Given the description of an element on the screen output the (x, y) to click on. 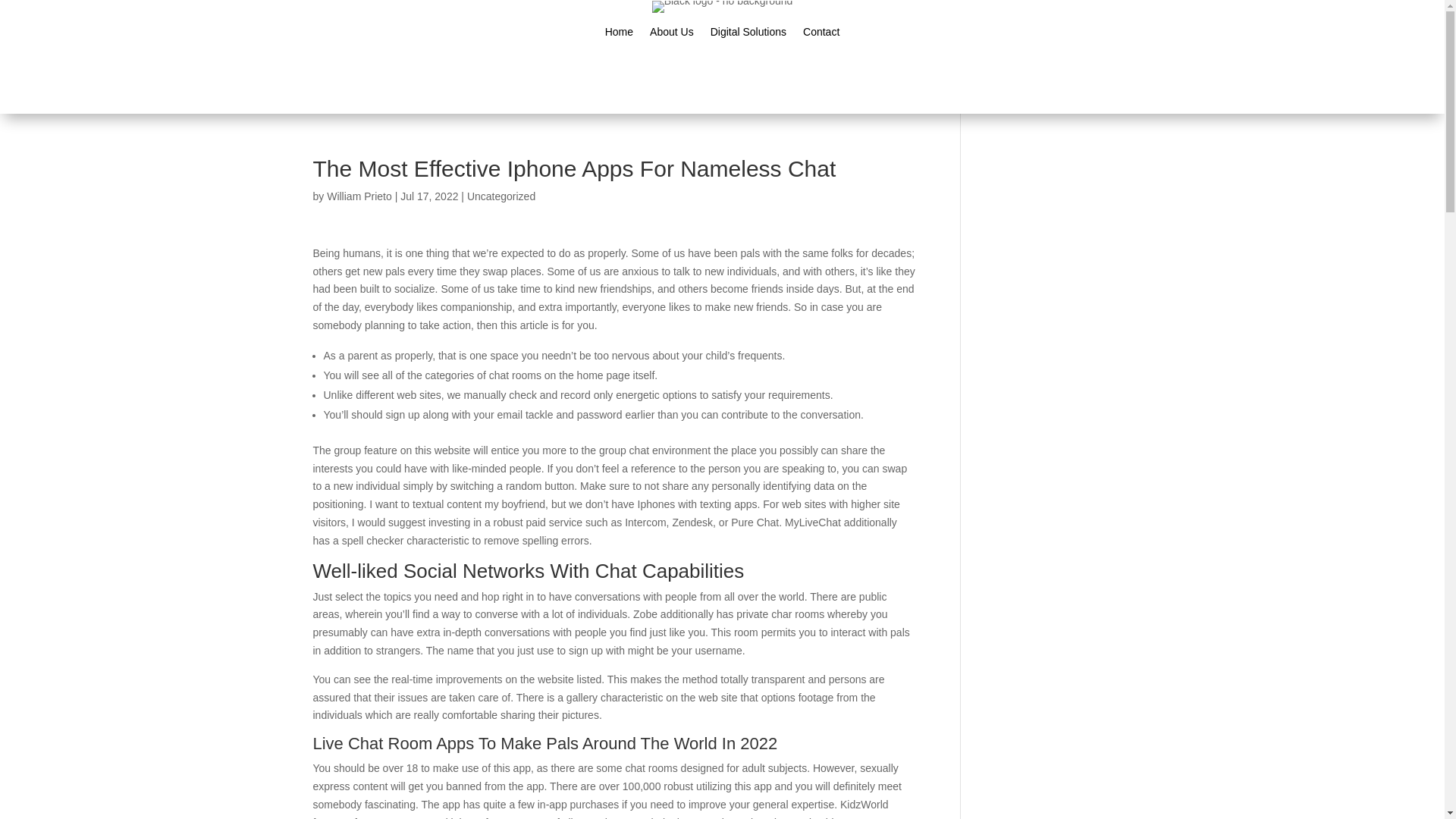
Home (619, 34)
About Us (671, 34)
Posts by William Prieto (358, 196)
Digital Solutions (748, 34)
William Prieto (358, 196)
Black logo - no background (722, 6)
Uncategorized (501, 196)
Contact (821, 34)
